Given the description of an element on the screen output the (x, y) to click on. 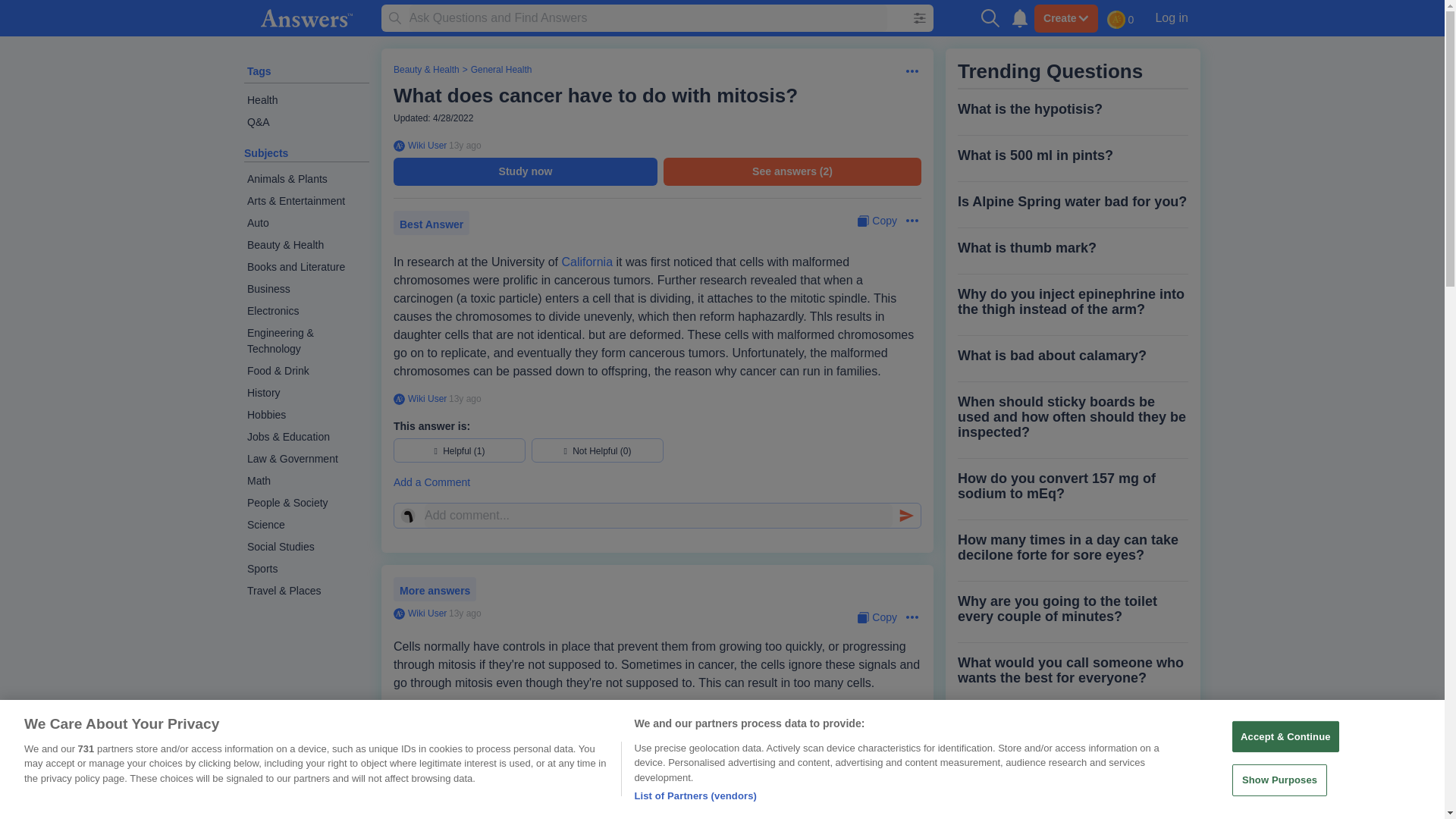
Tags (258, 70)
Copy (876, 220)
California (586, 261)
2011-02-24 17:02:56 (464, 613)
Math (306, 481)
Health (306, 100)
2010-09-14 02:29:26 (464, 398)
History (306, 393)
Business (306, 289)
Science (306, 525)
General Health (501, 69)
Subjects (266, 152)
Copy (876, 617)
Log in (1170, 17)
Electronics (306, 311)
